Given the description of an element on the screen output the (x, y) to click on. 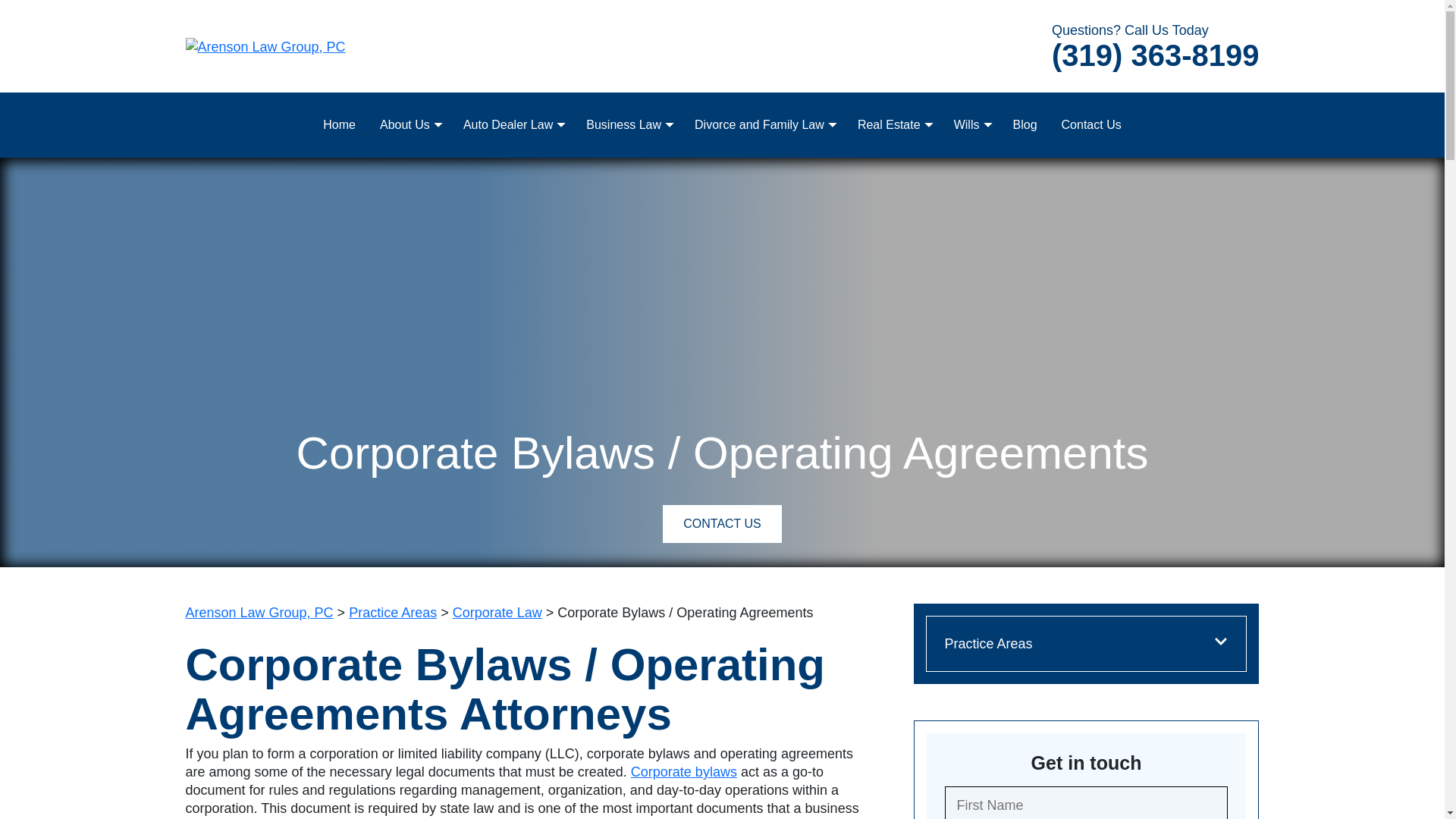
Home (339, 124)
Go to Arenson Law Group, PC. (258, 612)
Go to Practice Areas. (392, 612)
About Us (409, 124)
Go to Corporate Law. (496, 612)
